Given the description of an element on the screen output the (x, y) to click on. 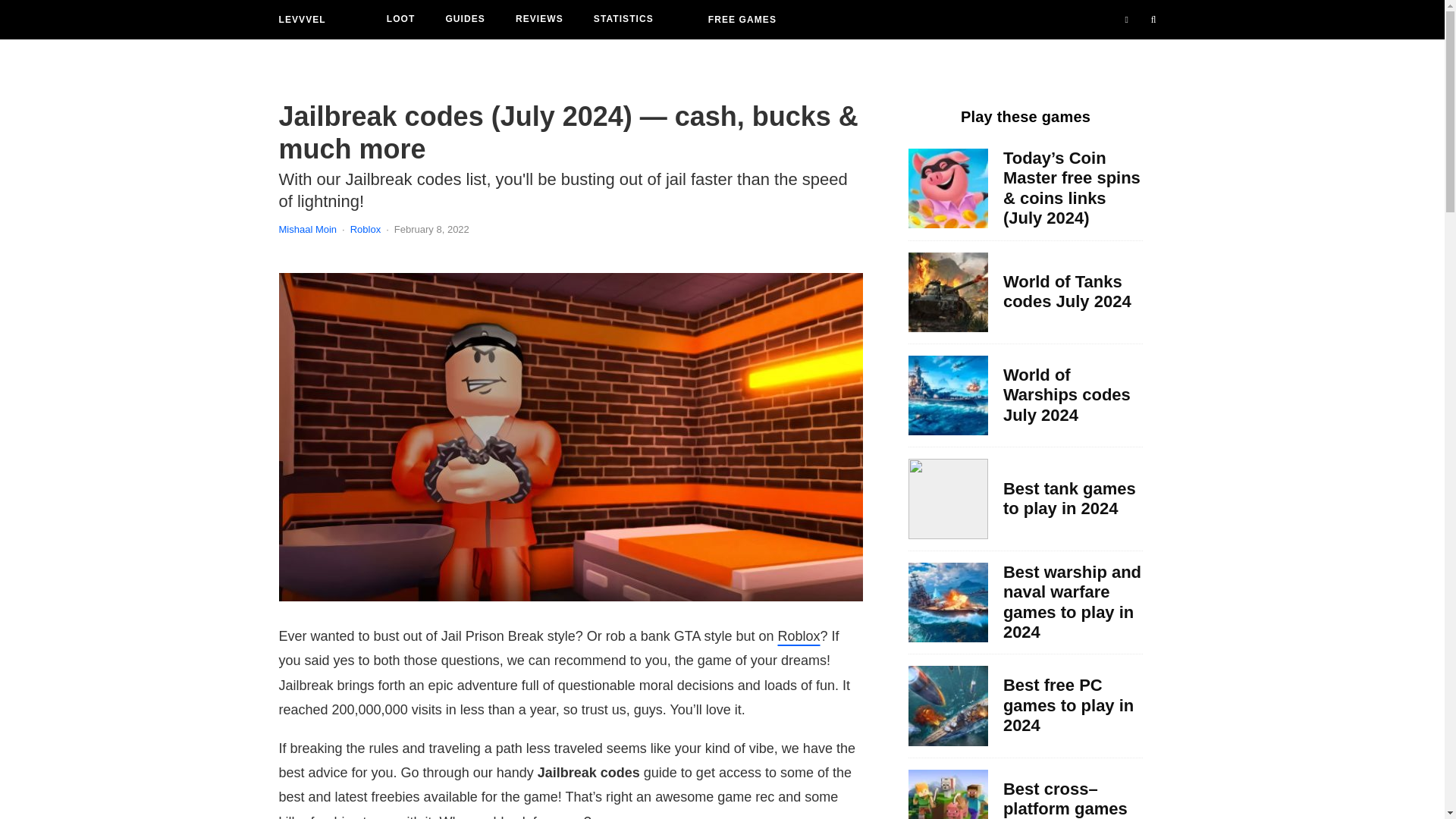
FREE GAMES (742, 19)
GUIDES (464, 19)
Roblox (365, 229)
world of warships codes 2023 (948, 394)
how to download world of warships (948, 705)
Roblox (799, 635)
Mishaal Moin (308, 229)
REVIEWS (539, 19)
LEVVVEL (302, 19)
wargaming world of tanks codes 2023 (948, 292)
